Given the description of an element on the screen output the (x, y) to click on. 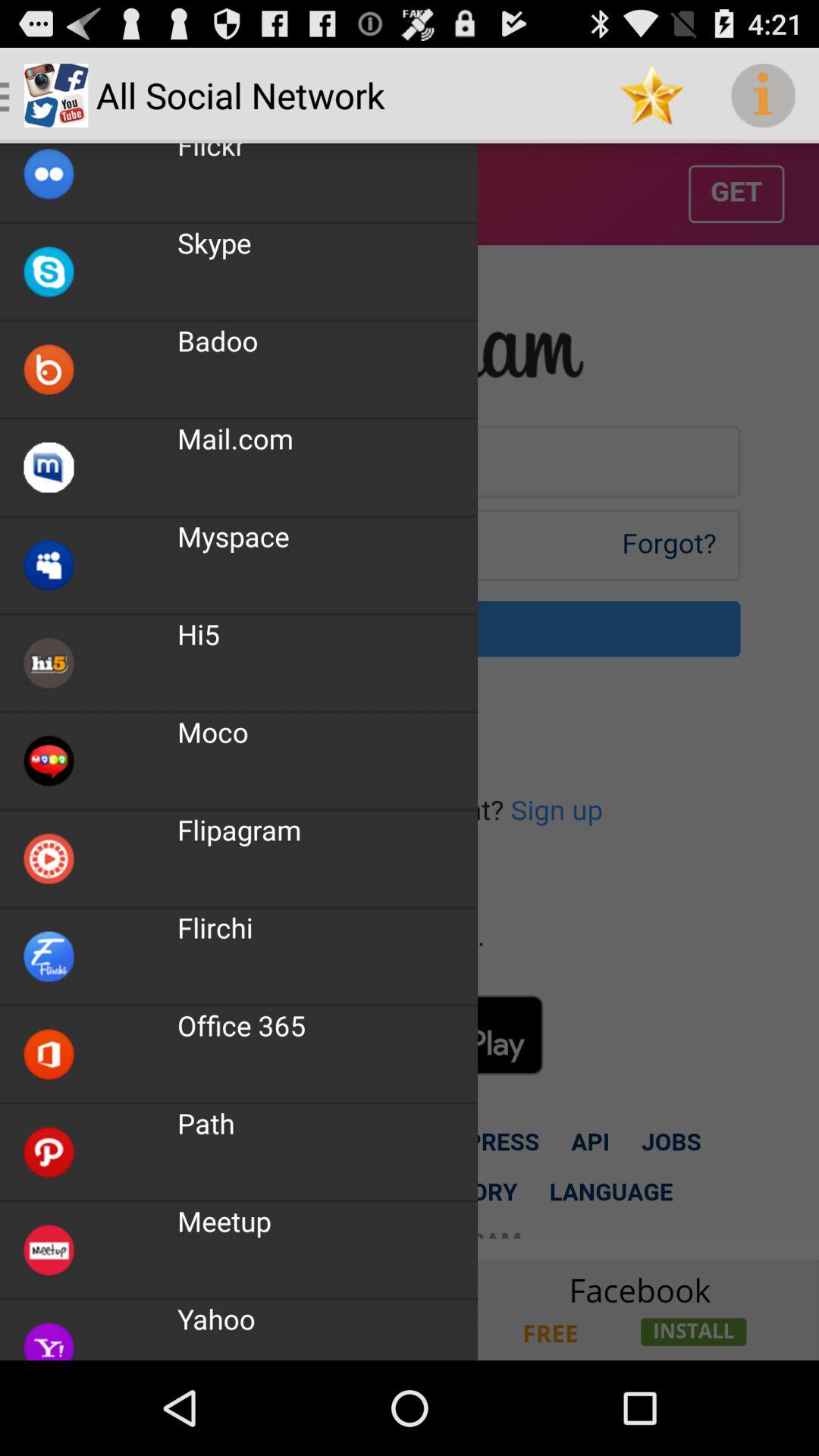
press icon above the skype app (210, 153)
